Given the description of an element on the screen output the (x, y) to click on. 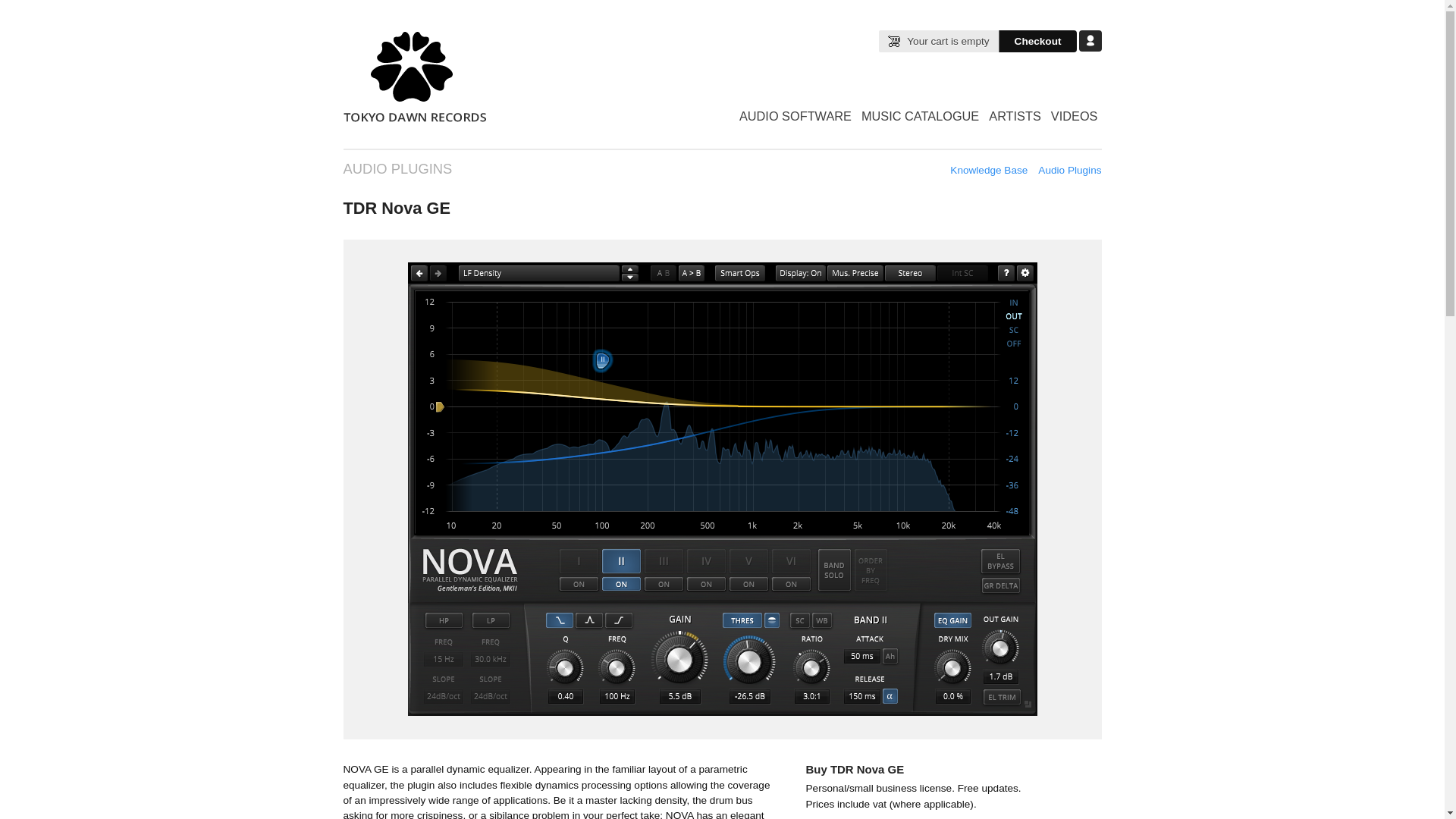
Review cart and proceed to checkout (1037, 41)
Knowledge Base (988, 169)
Checkout (1037, 41)
VIDEOS (1074, 115)
Audio Plugins (1069, 169)
AUDIO SOFTWARE (795, 115)
Your cart is empty (938, 41)
ARTISTS (1015, 115)
Customer Profile (1089, 40)
MUSIC CATALOGUE (919, 115)
